Given the description of an element on the screen output the (x, y) to click on. 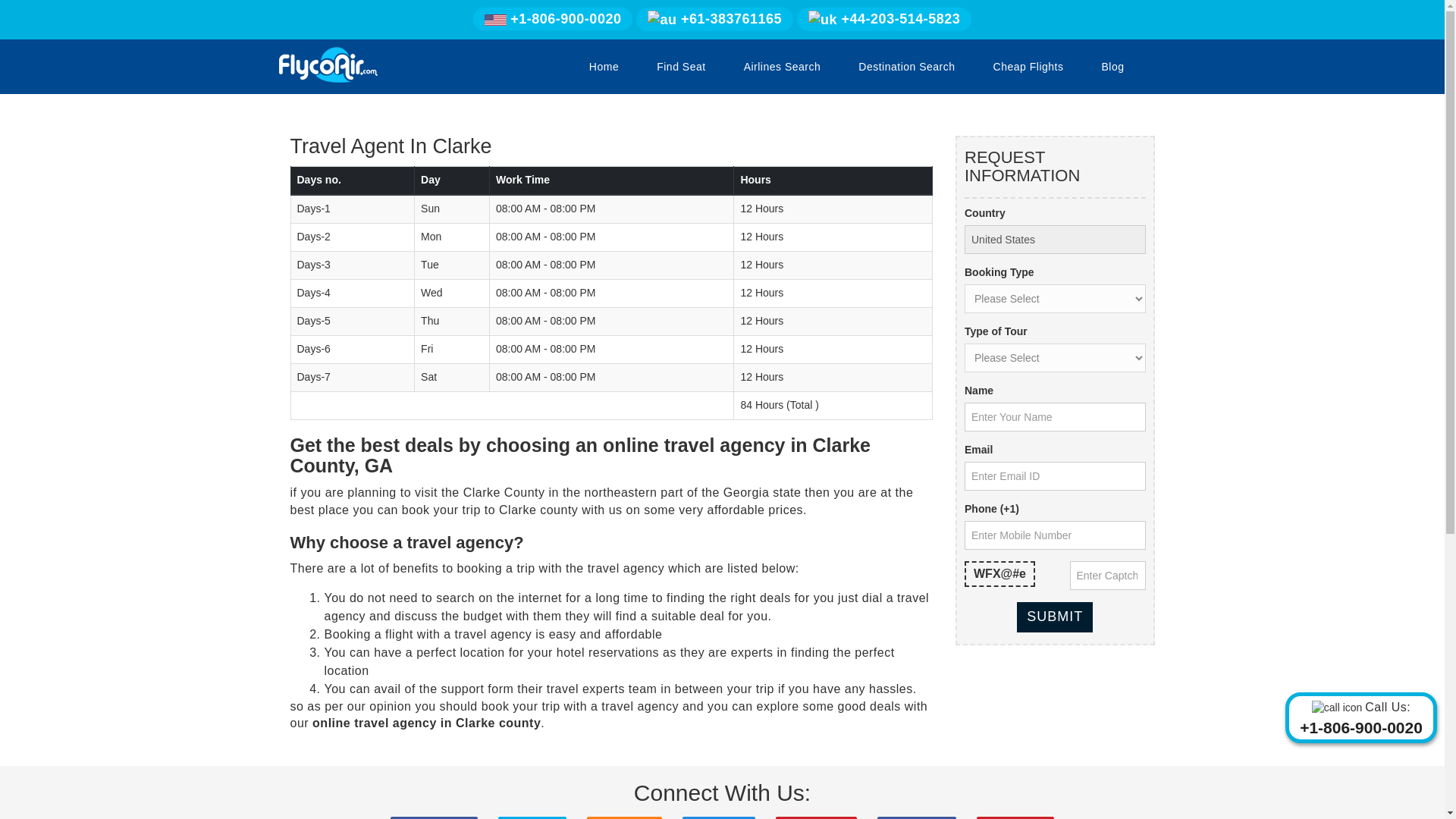
Destination Search (906, 66)
Blogger (624, 817)
Facebook (433, 817)
Cheap Flights (1028, 66)
Find Seat (681, 66)
Linkedin (916, 817)
Blog (1112, 66)
Airlines Search (782, 66)
United States (1054, 239)
Youtube (1015, 817)
